Given the description of an element on the screen output the (x, y) to click on. 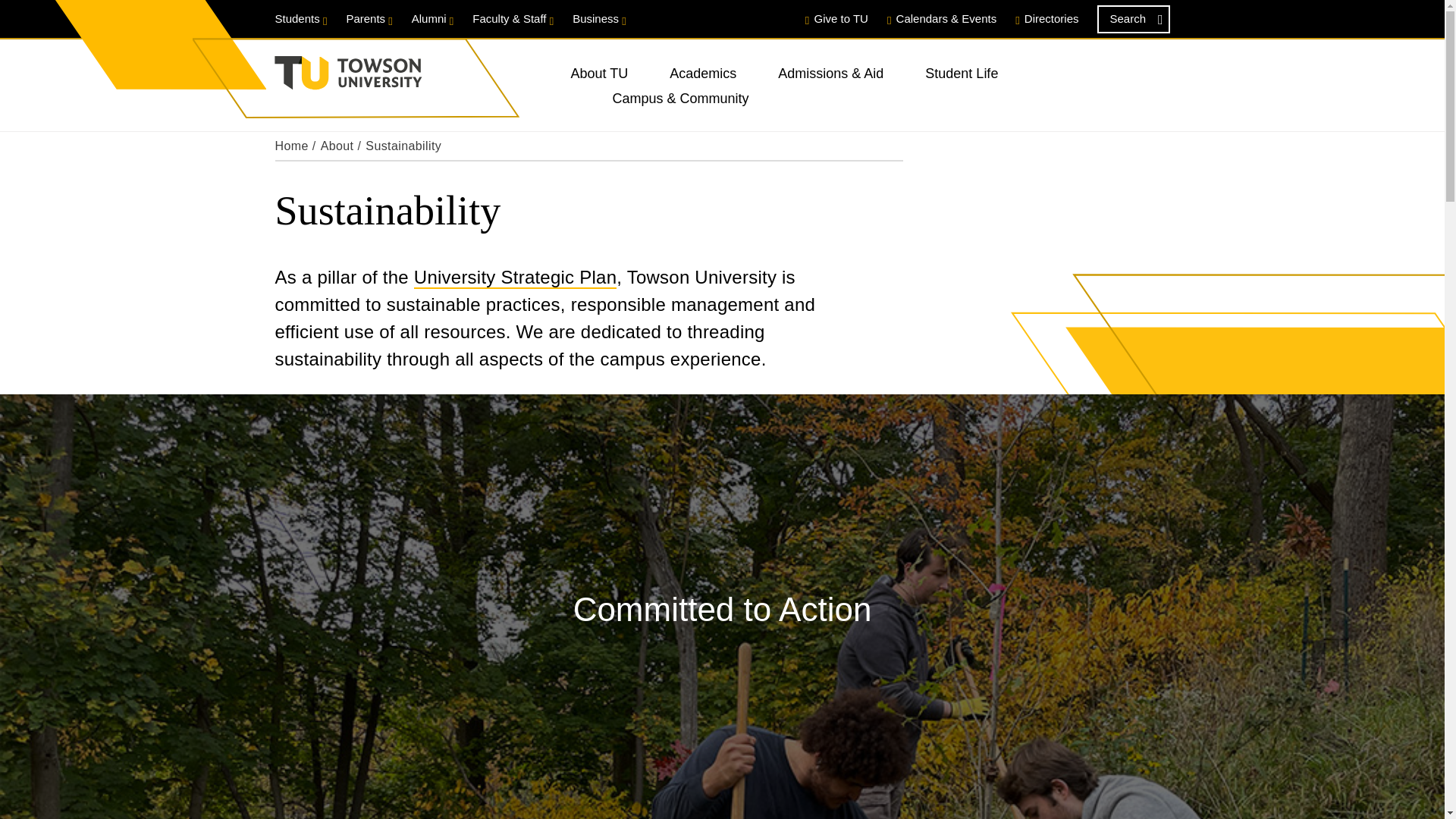
Search (1132, 18)
Parents (368, 18)
Alumni (433, 18)
Search (1132, 18)
Students (300, 18)
